Given the description of an element on the screen output the (x, y) to click on. 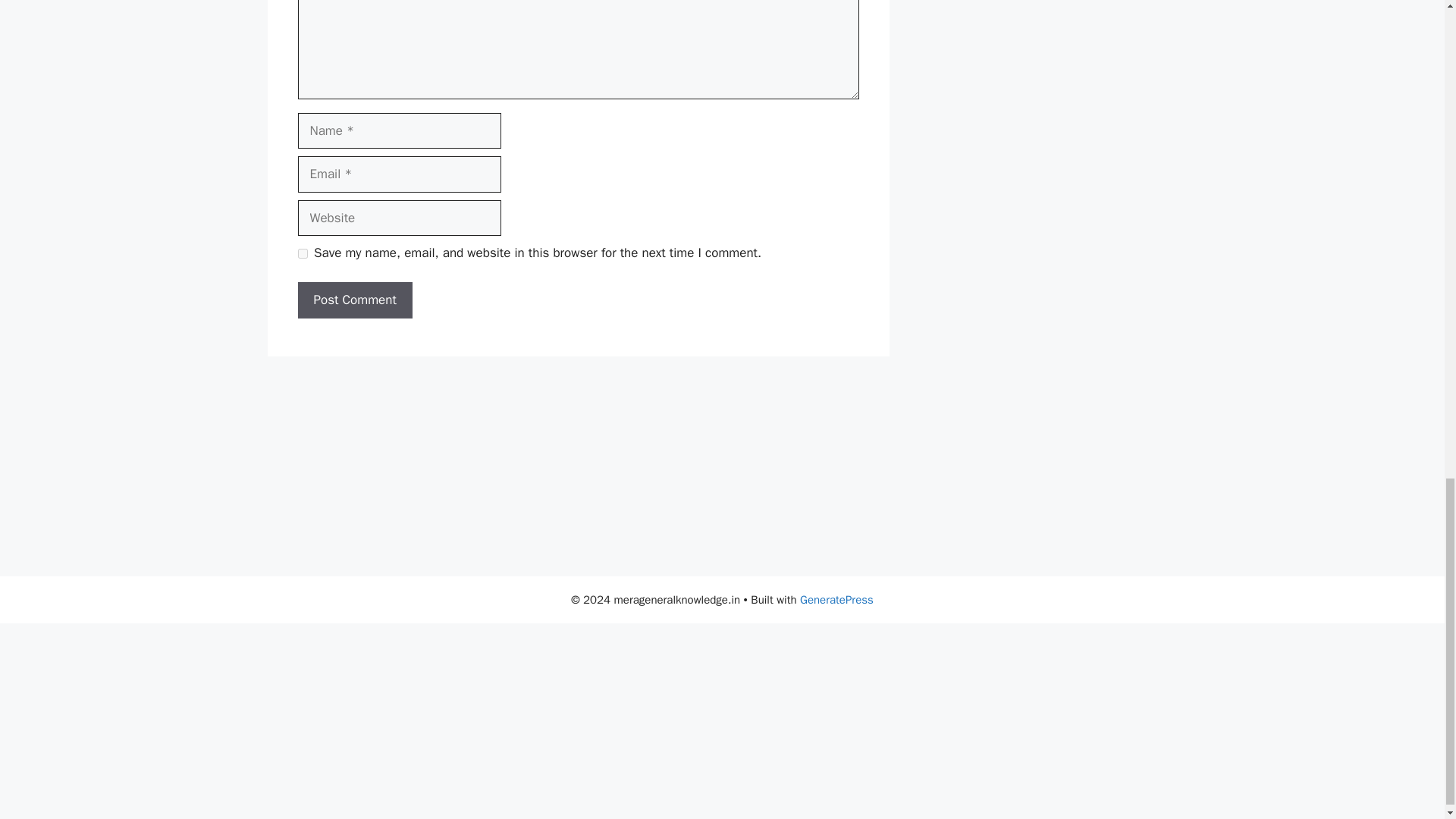
Post Comment (354, 299)
yes (302, 253)
GeneratePress (836, 599)
Post Comment (354, 299)
